Given the description of an element on the screen output the (x, y) to click on. 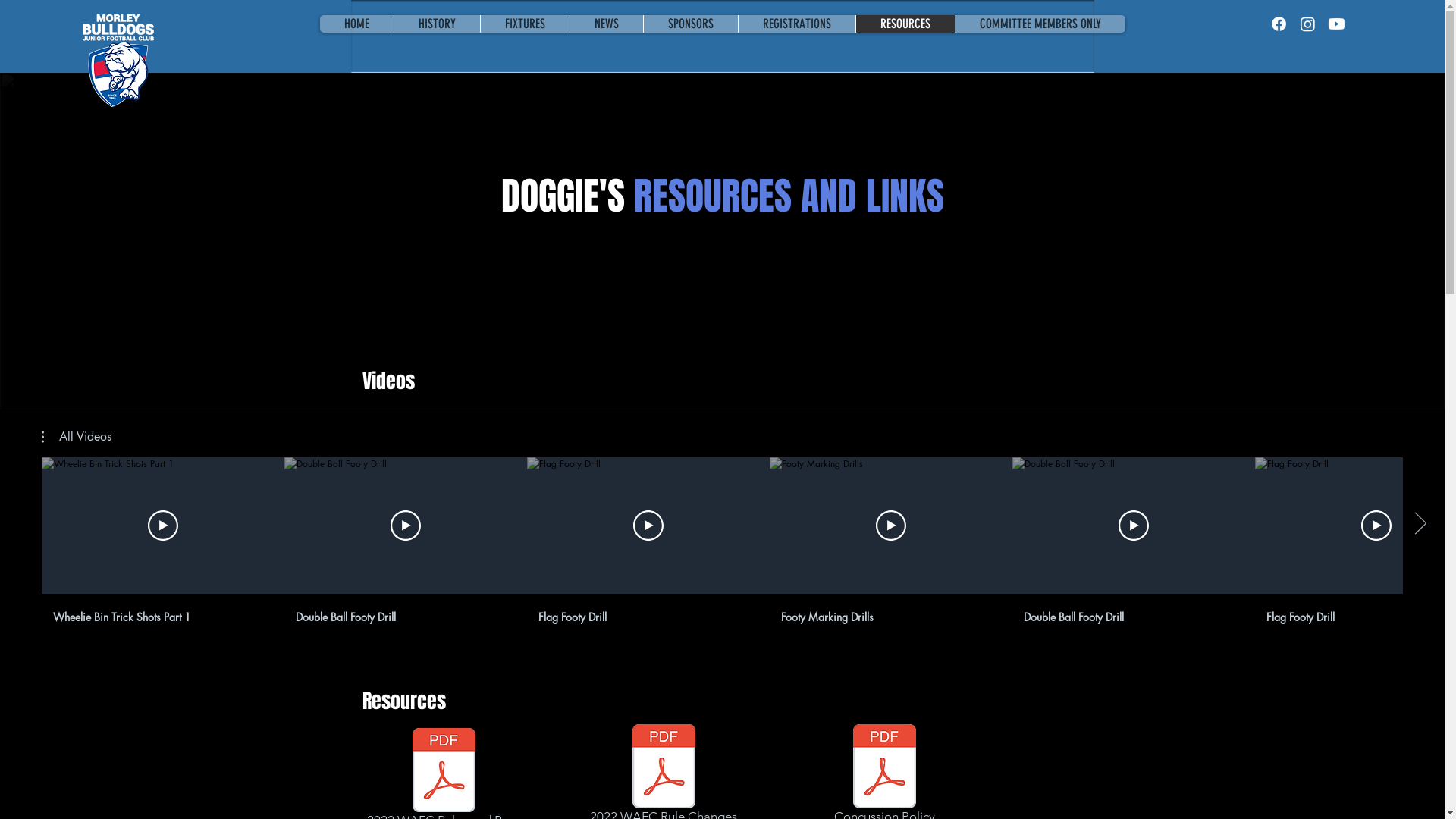
FIXTURES Element type: text (523, 23)
Flag Footy Drill Element type: text (641, 614)
NEWS Element type: text (605, 23)
RESOURCES Element type: text (904, 23)
HOME Element type: text (356, 23)
SPONSORS Element type: text (690, 23)
Double Ball Footy Drill Element type: text (1126, 614)
Wheelie Bin Trick Shots Part 1 Element type: text (156, 614)
HISTORY Element type: text (435, 23)
Footy Marking Drills Element type: text (884, 614)
REGISTRATIONS Element type: text (795, 23)
COMMITTEE MEMBERS ONLY Element type: text (1038, 23)
Double Ball Footy Drill Element type: text (398, 614)
